Given the description of an element on the screen output the (x, y) to click on. 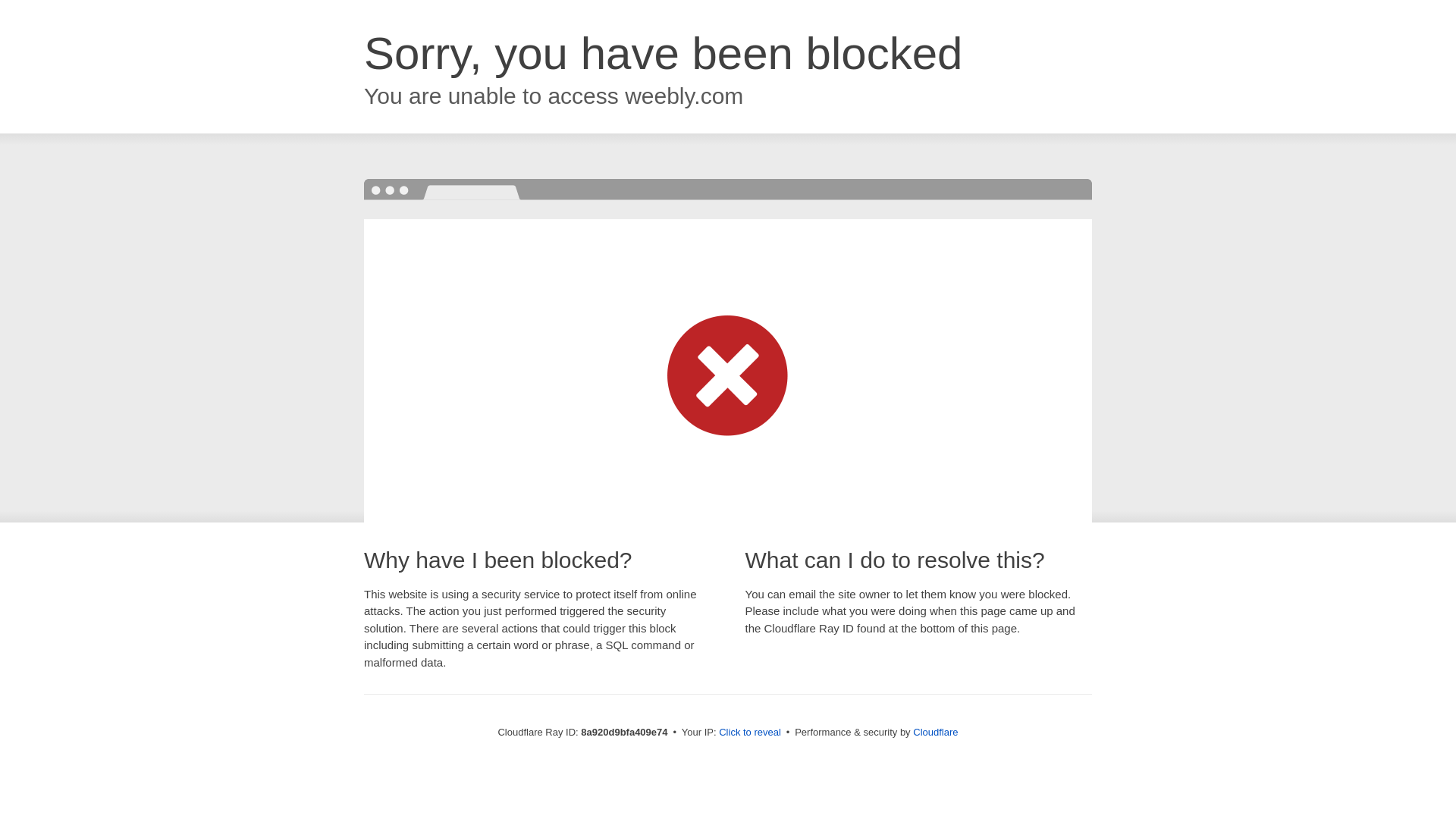
Click to reveal (749, 732)
Cloudflare (935, 731)
